Given the description of an element on the screen output the (x, y) to click on. 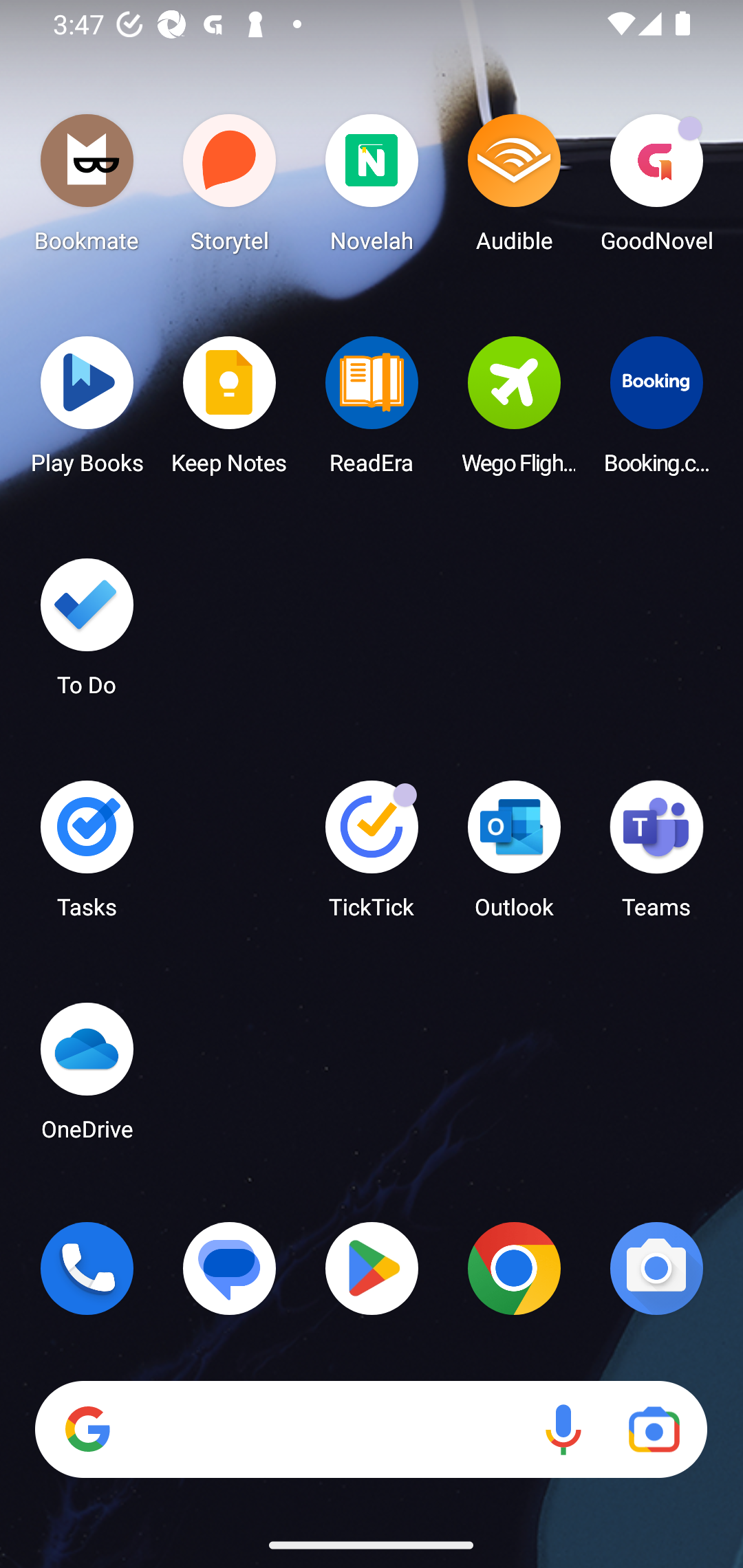
Bookmate (86, 188)
Storytel (229, 188)
Novelah (371, 188)
Audible (513, 188)
GoodNovel GoodNovel has 1 notification (656, 188)
Play Books (86, 410)
Keep Notes (229, 410)
ReadEra (371, 410)
Wego Flights & Hotels (513, 410)
Booking.com (656, 410)
To Do (86, 633)
Tasks (86, 854)
TickTick TickTick has 3 notifications (371, 854)
Outlook (513, 854)
Teams (656, 854)
OneDrive (86, 1076)
Phone (86, 1268)
Messages (229, 1268)
Play Store (371, 1268)
Chrome (513, 1268)
Camera (656, 1268)
Search Voice search Google Lens (370, 1429)
Voice search (562, 1429)
Google Lens (653, 1429)
